Given the description of an element on the screen output the (x, y) to click on. 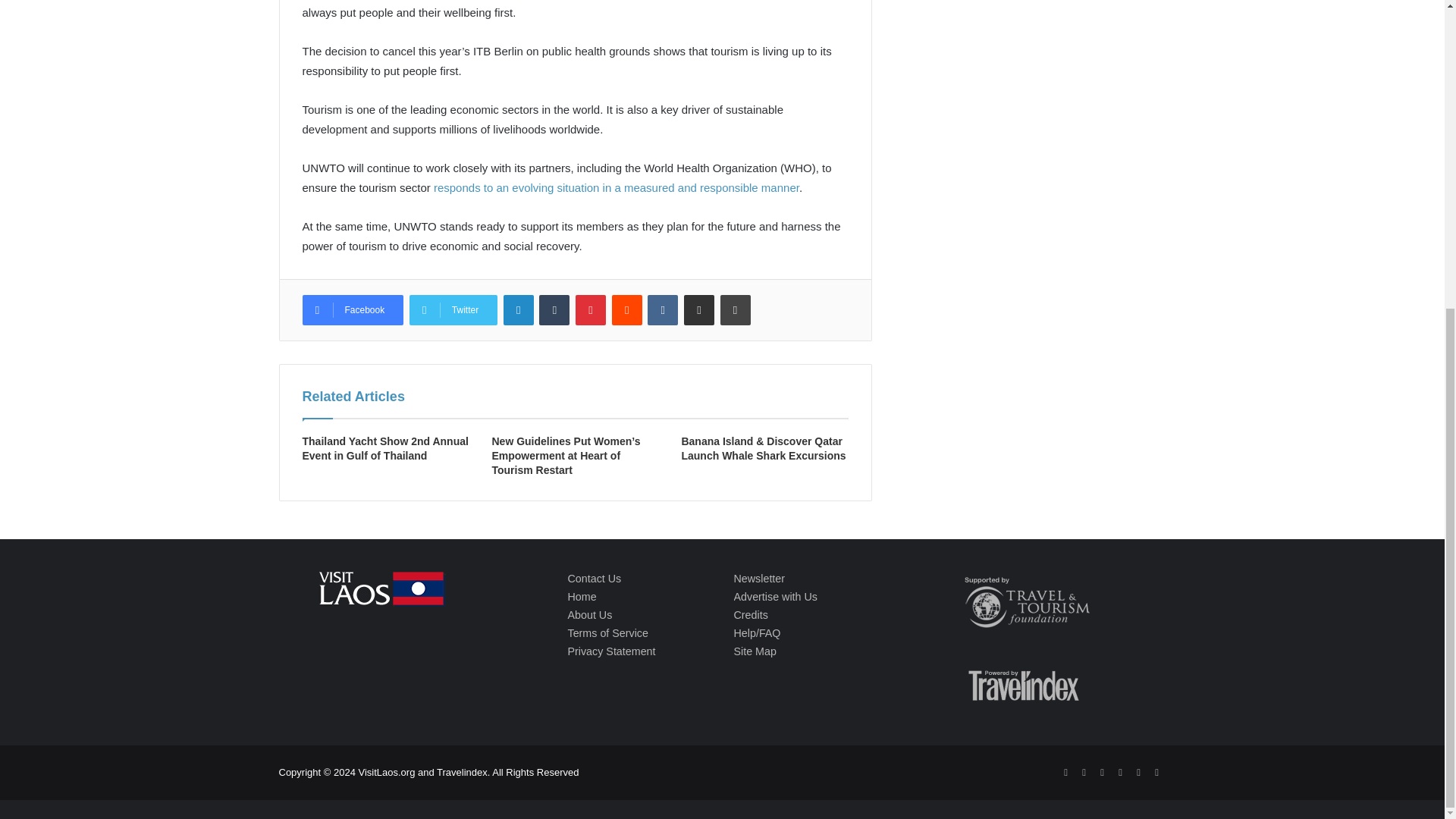
LinkedIn (518, 309)
Facebook (352, 309)
VKontakte (662, 309)
Tumblr (553, 309)
Twitter (453, 309)
Reddit (626, 309)
Share via Email (699, 309)
Print (735, 309)
Pinterest (590, 309)
